Given the description of an element on the screen output the (x, y) to click on. 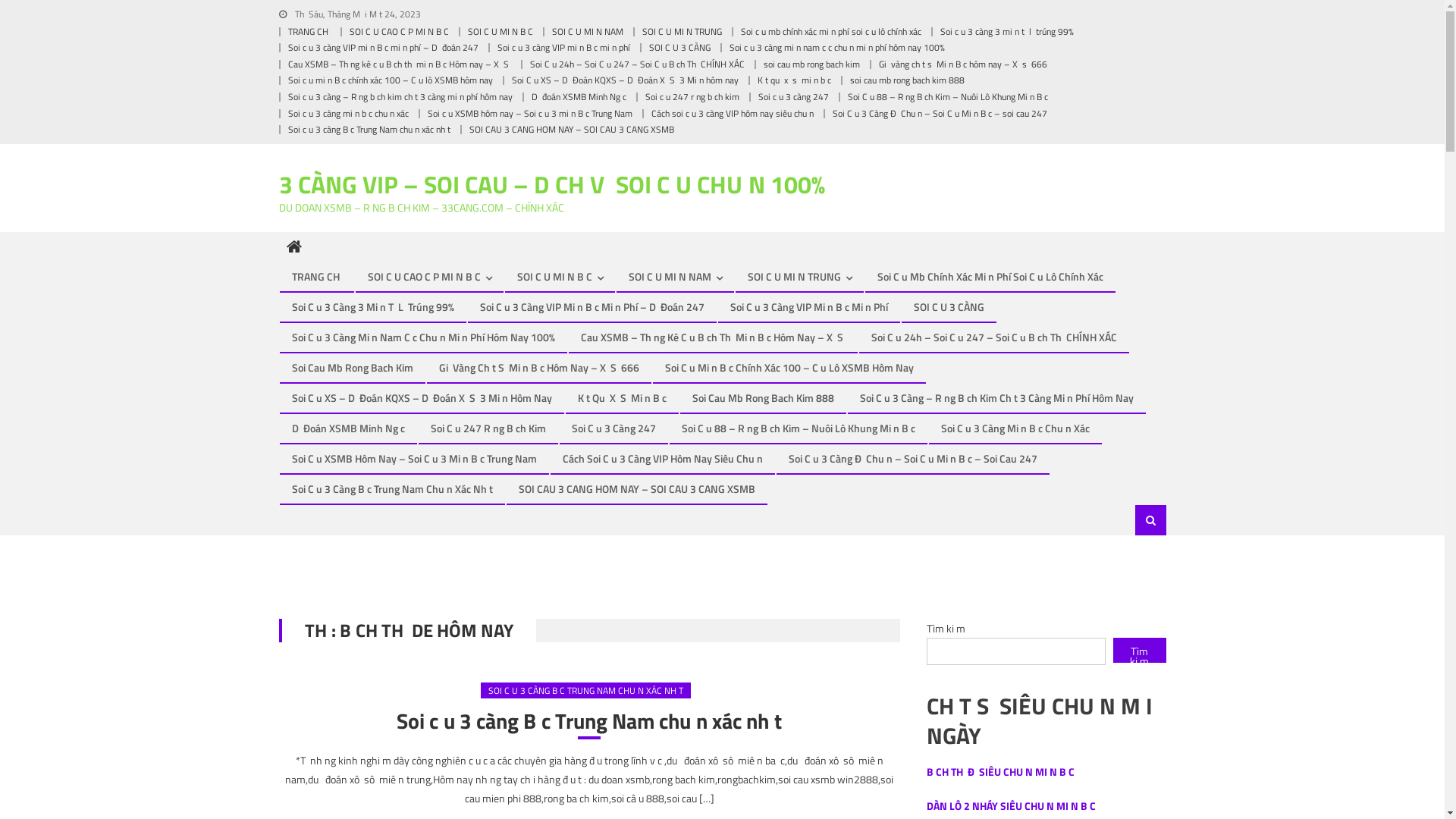
soi cau mb rong bach kim Element type: text (810, 63)
soi cau mb rong bach kim 888 Element type: text (906, 79)
Soi Cau Mb Rong Bach Kim Element type: text (352, 367)
Soi Cau Mb Rong Bach Kim 888 Element type: text (762, 397)
